Given the description of an element on the screen output the (x, y) to click on. 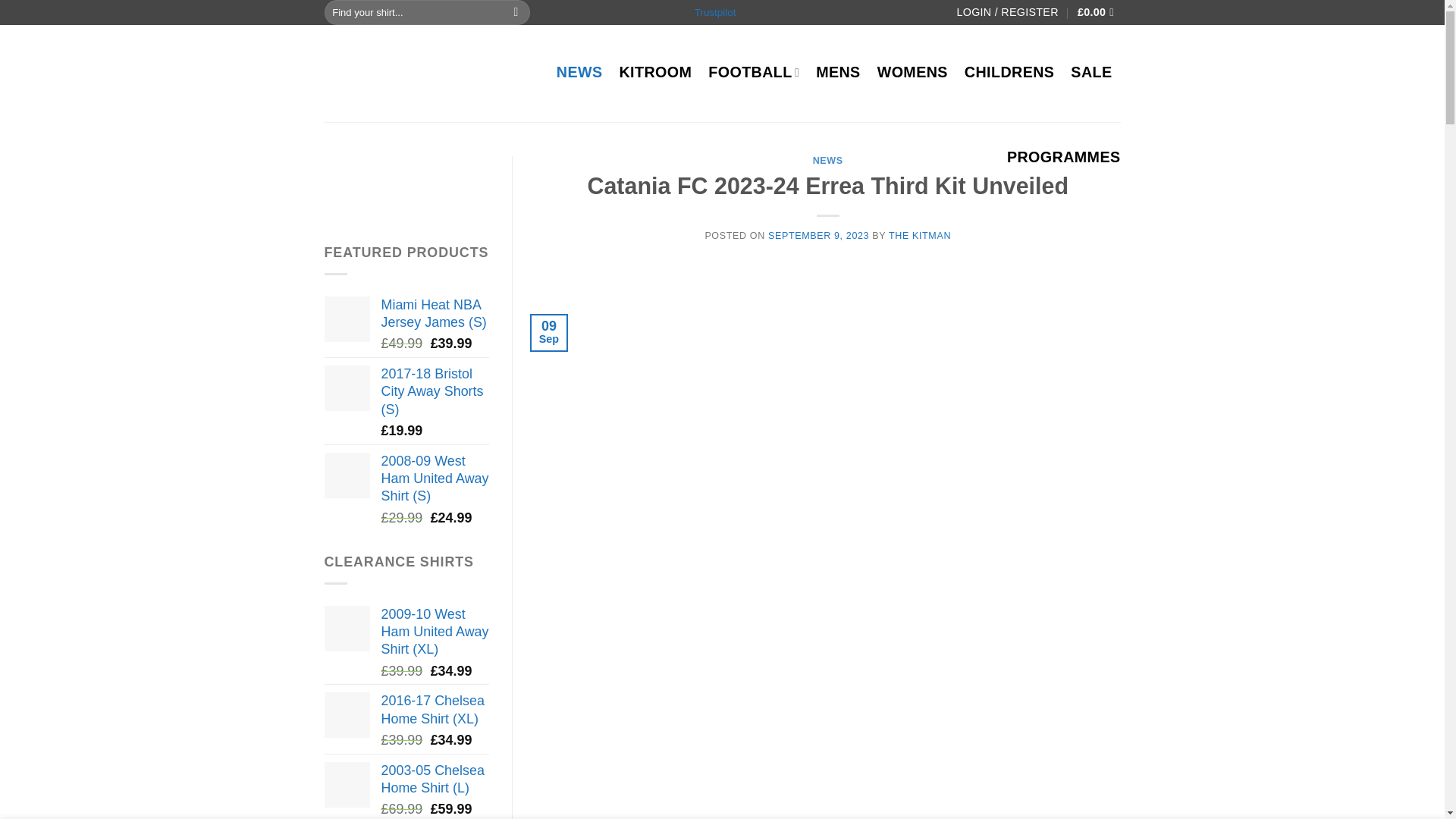
Trustpilot (715, 12)
Basket (1099, 12)
Search (515, 12)
FOOTBALL (753, 71)
